Given the description of an element on the screen output the (x, y) to click on. 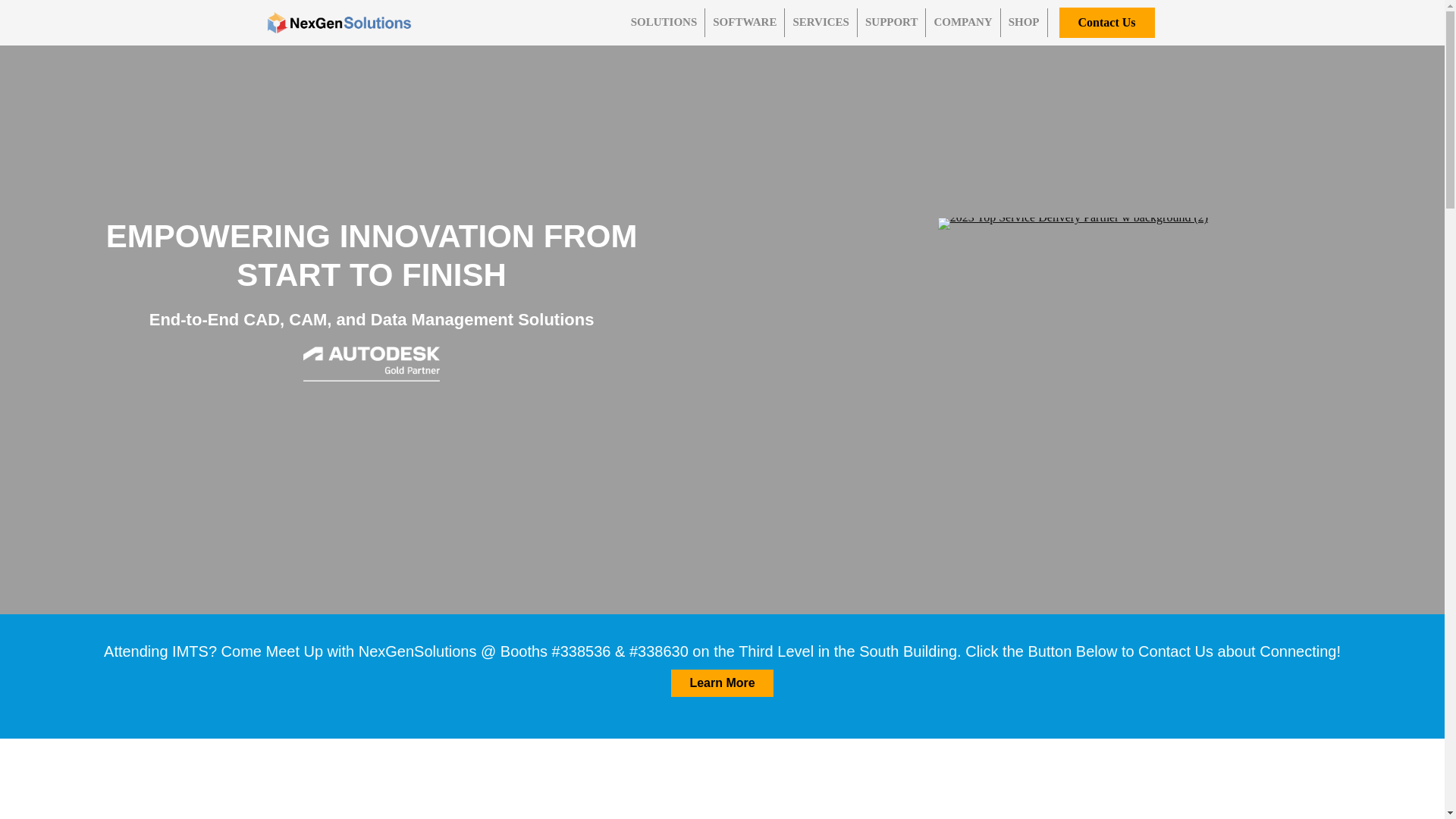
SOLUTIONS (664, 22)
SOFTWARE (744, 22)
autodesk-gold-partner-logo-rgb-white (370, 363)
